Given the description of an element on the screen output the (x, y) to click on. 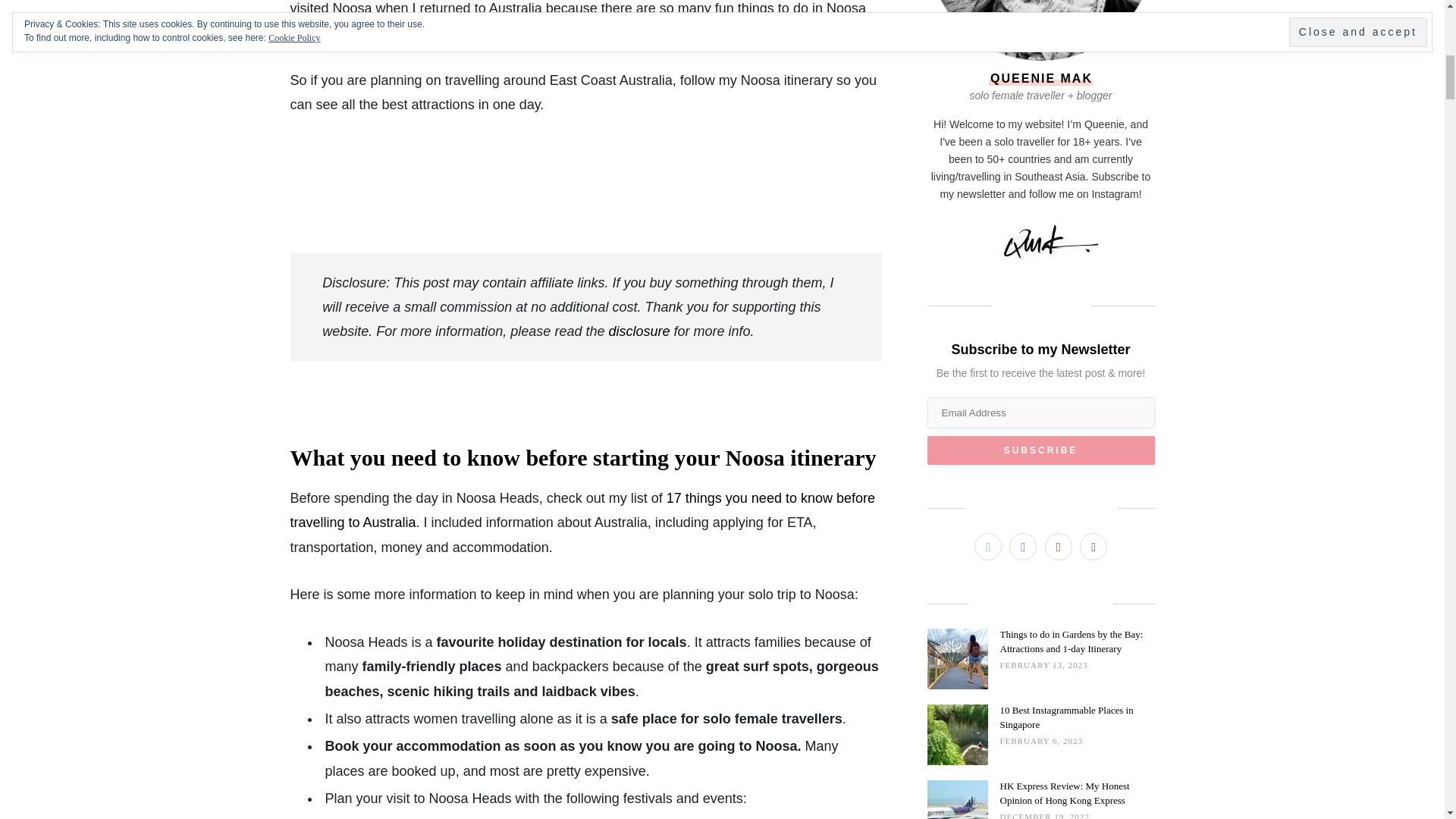
Subscribe (1040, 450)
